Given the description of an element on the screen output the (x, y) to click on. 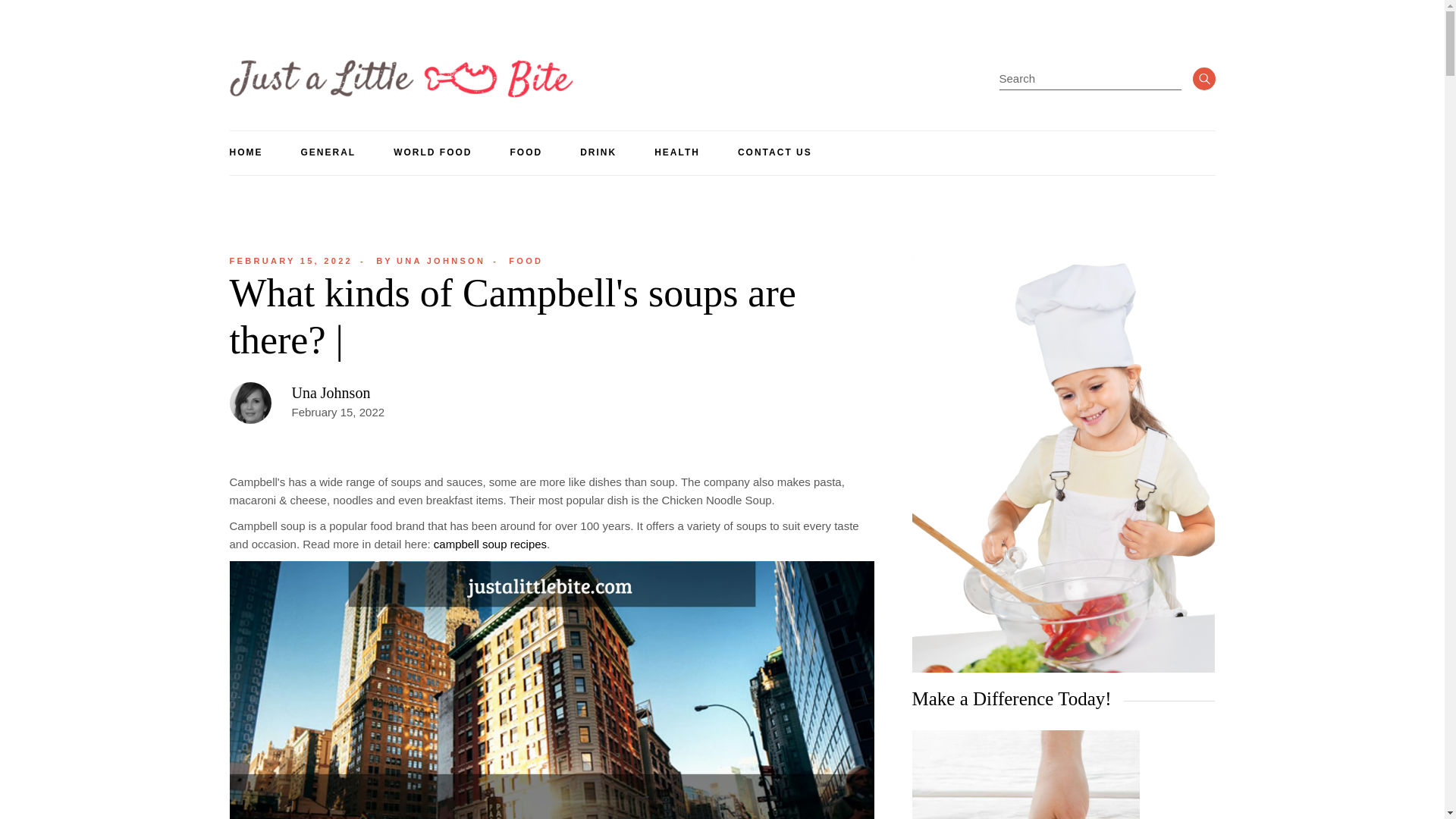
WORLD FOOD (432, 153)
CONTACT US (775, 153)
FEBRUARY 15, 2022 (290, 261)
GENERAL (327, 153)
FOOD (525, 261)
Make a Difference Today! (1024, 774)
HEALTH (676, 153)
Title Text:  (290, 261)
Una Johnson (429, 261)
